Given the description of an element on the screen output the (x, y) to click on. 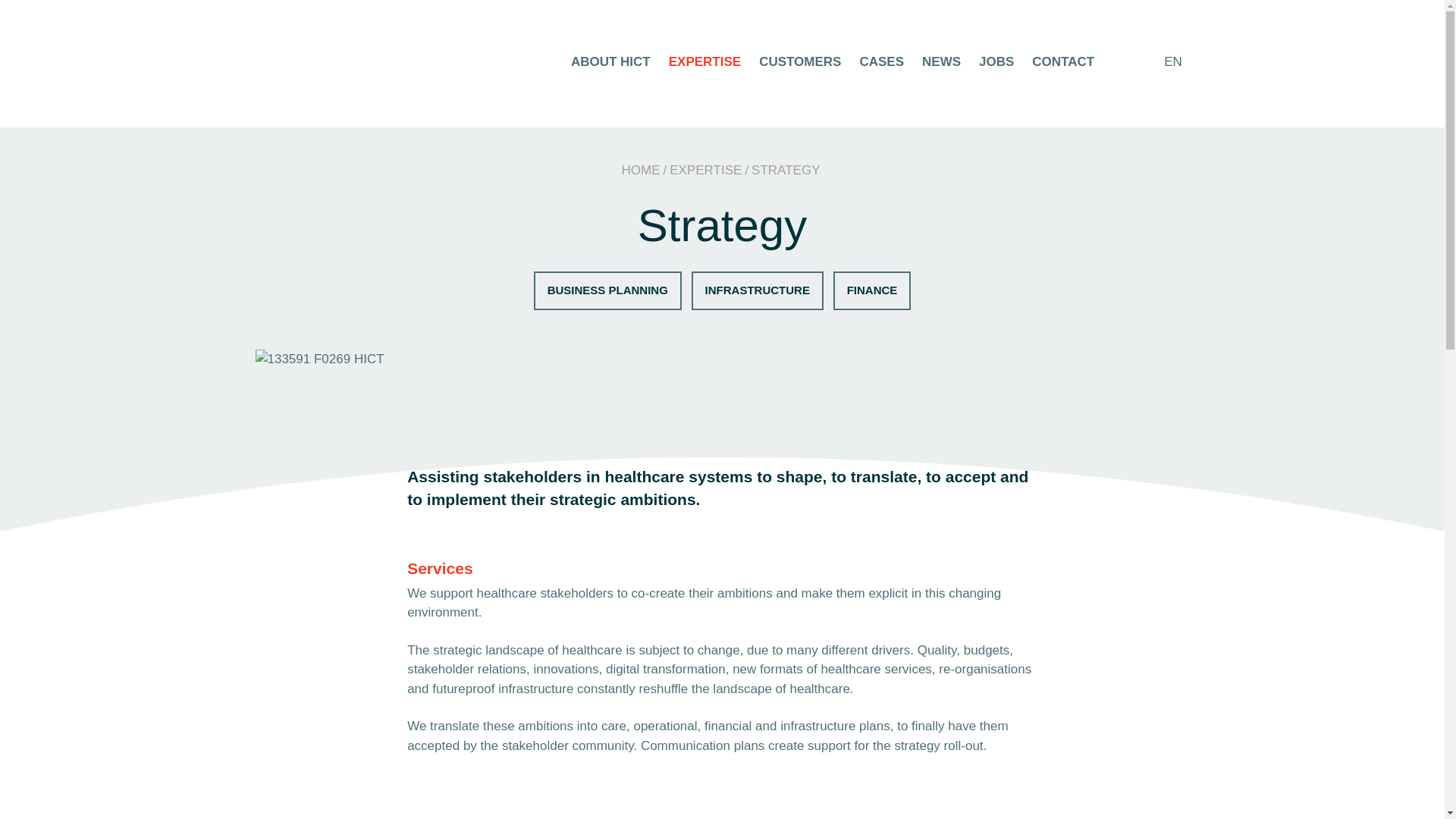
NEWS (940, 61)
ABOUT HICT (610, 61)
CASES (881, 61)
STRATEGY (785, 170)
CONTACT (1063, 61)
EXPERTISE (704, 61)
EXPERTISE (705, 170)
JOBS (995, 61)
CUSTOMERS (799, 61)
BUSINESS PLANNING (607, 290)
